Given the description of an element on the screen output the (x, y) to click on. 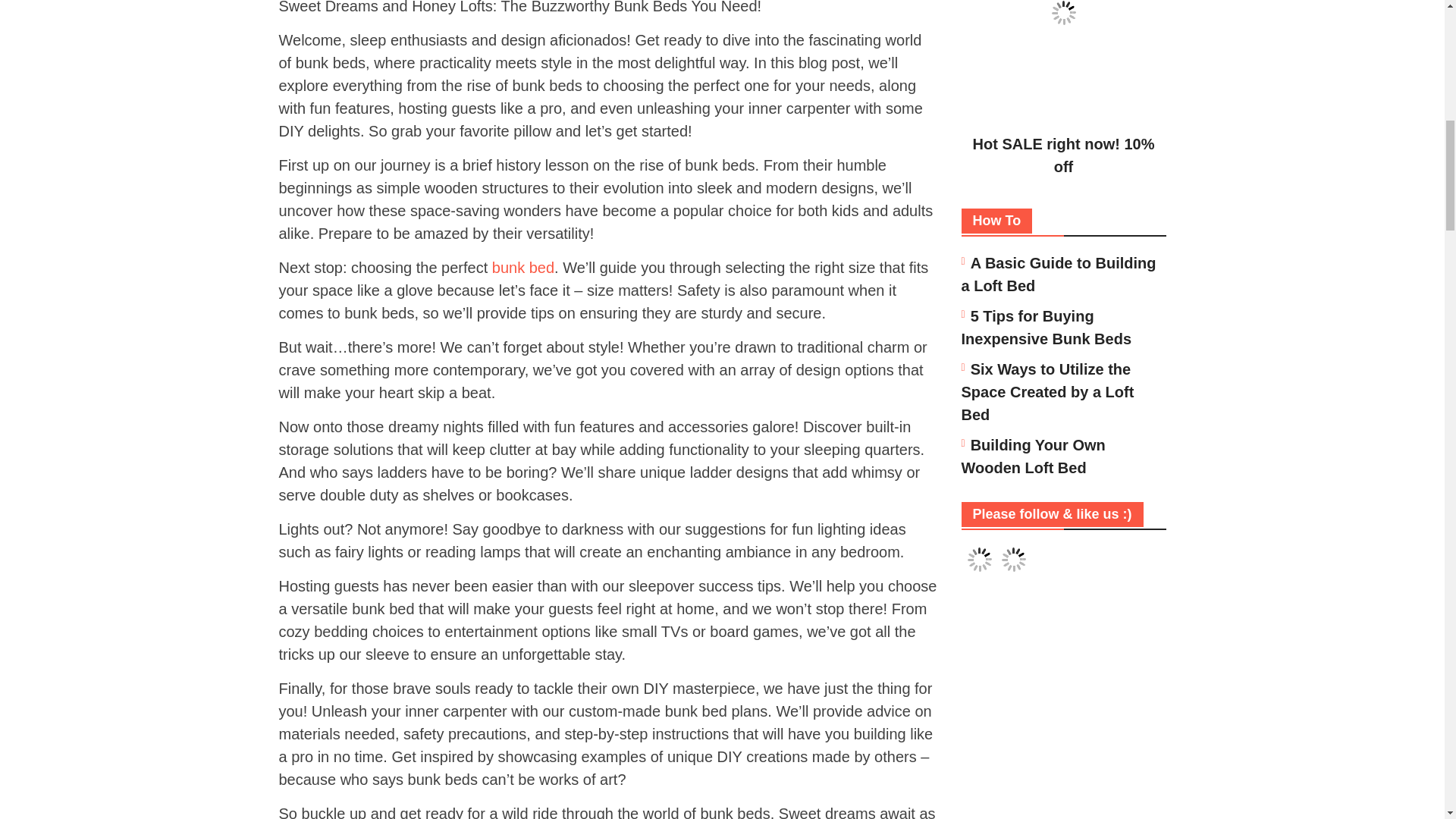
bunk bed (523, 267)
